Given the description of an element on the screen output the (x, y) to click on. 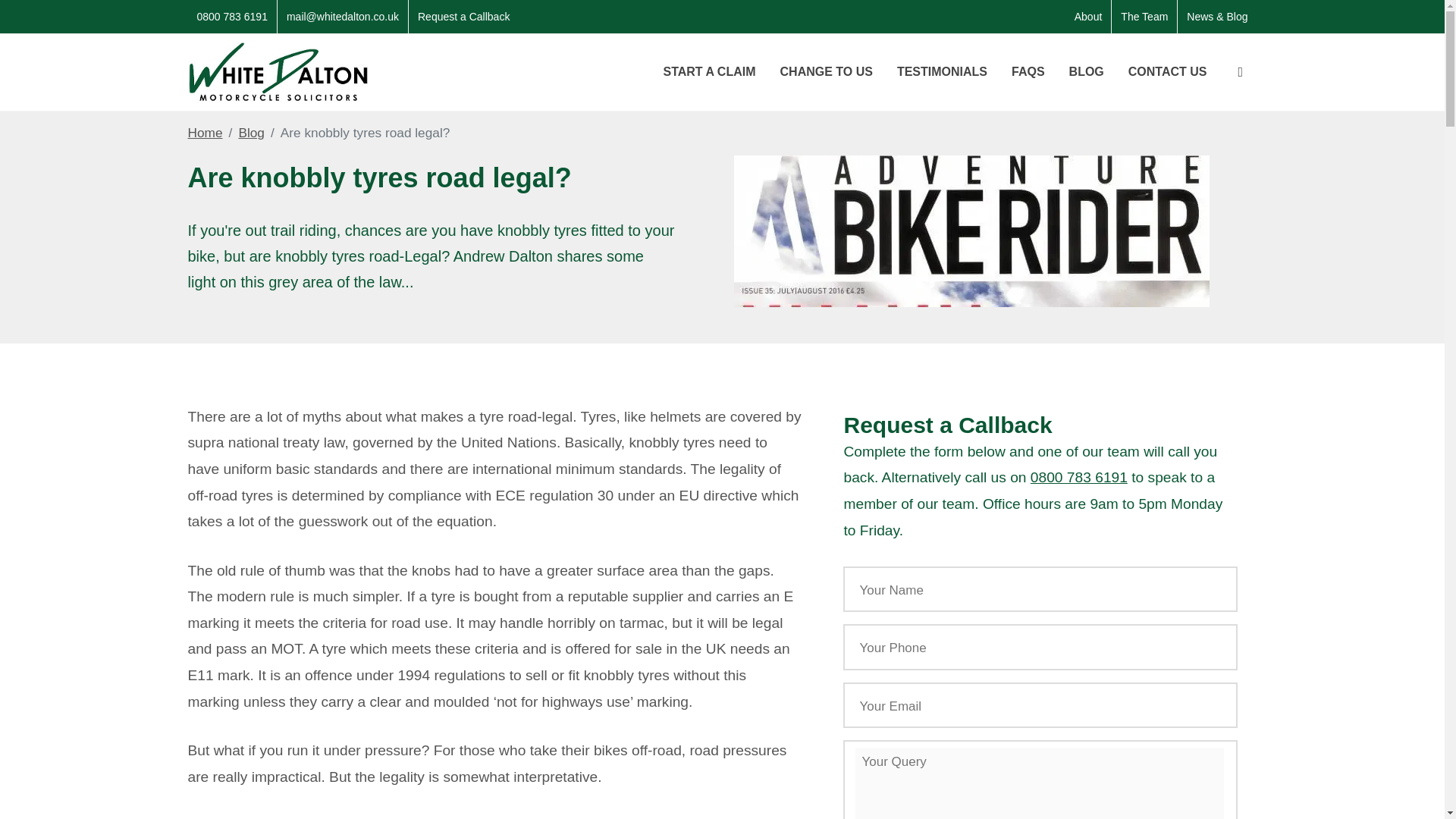
Blog (251, 133)
CONTACT US (1167, 71)
Request a Callback (463, 16)
Testimonials (941, 71)
Request a Callback (463, 16)
Home (204, 133)
CHANGE TO US (825, 71)
Contact Us (1167, 71)
0800 783 6191 (1078, 477)
Start a claim (708, 71)
